Given the description of an element on the screen output the (x, y) to click on. 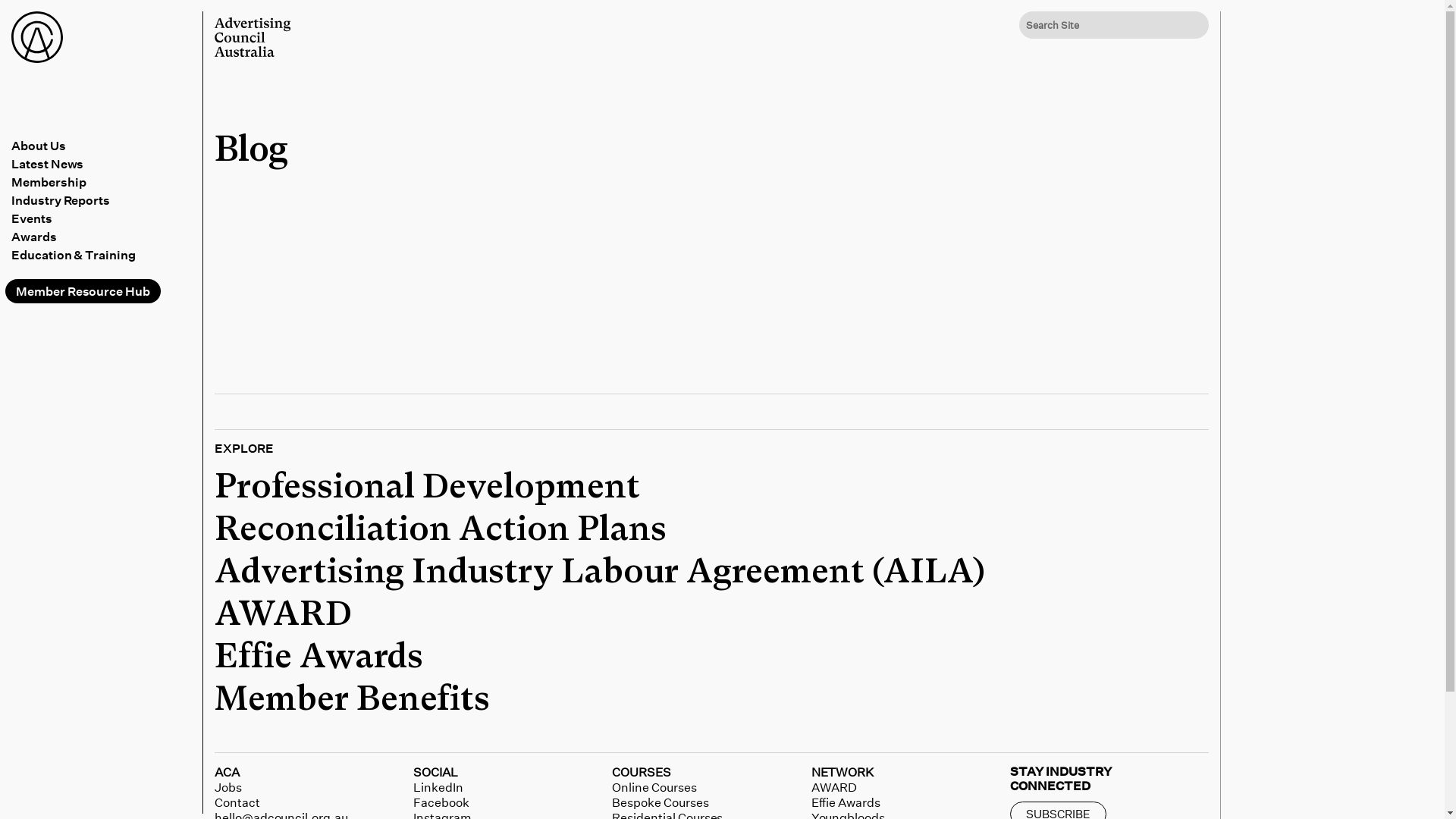
About Us Element type: text (104, 145)
Online Courses Element type: text (653, 786)
Industry Reports Element type: text (104, 200)
Advertising Industry Labour Agreement (AILA) Element type: text (599, 572)
Jobs Element type: text (227, 786)
LinkedIn Element type: text (438, 786)
Latest News Element type: text (104, 163)
Awards Element type: text (104, 236)
Membership Element type: text (104, 181)
Search Element type: text (25, 14)
Member Benefits Element type: text (351, 699)
advertising-council-australia Element type: hover (252, 36)
Effie Awards Element type: text (318, 657)
Effie Awards Element type: text (845, 801)
Contact Element type: text (237, 801)
Education & Training Element type: text (104, 254)
Bespoke Courses Element type: text (659, 801)
Facebook Element type: text (441, 801)
Reconciliation Action Plans Element type: text (440, 529)
Events Element type: text (104, 218)
AWARD Element type: text (282, 614)
Professional Development Element type: text (427, 487)
AWARD Element type: text (834, 786)
Member Resource Hub Element type: text (82, 291)
